Given the description of an element on the screen output the (x, y) to click on. 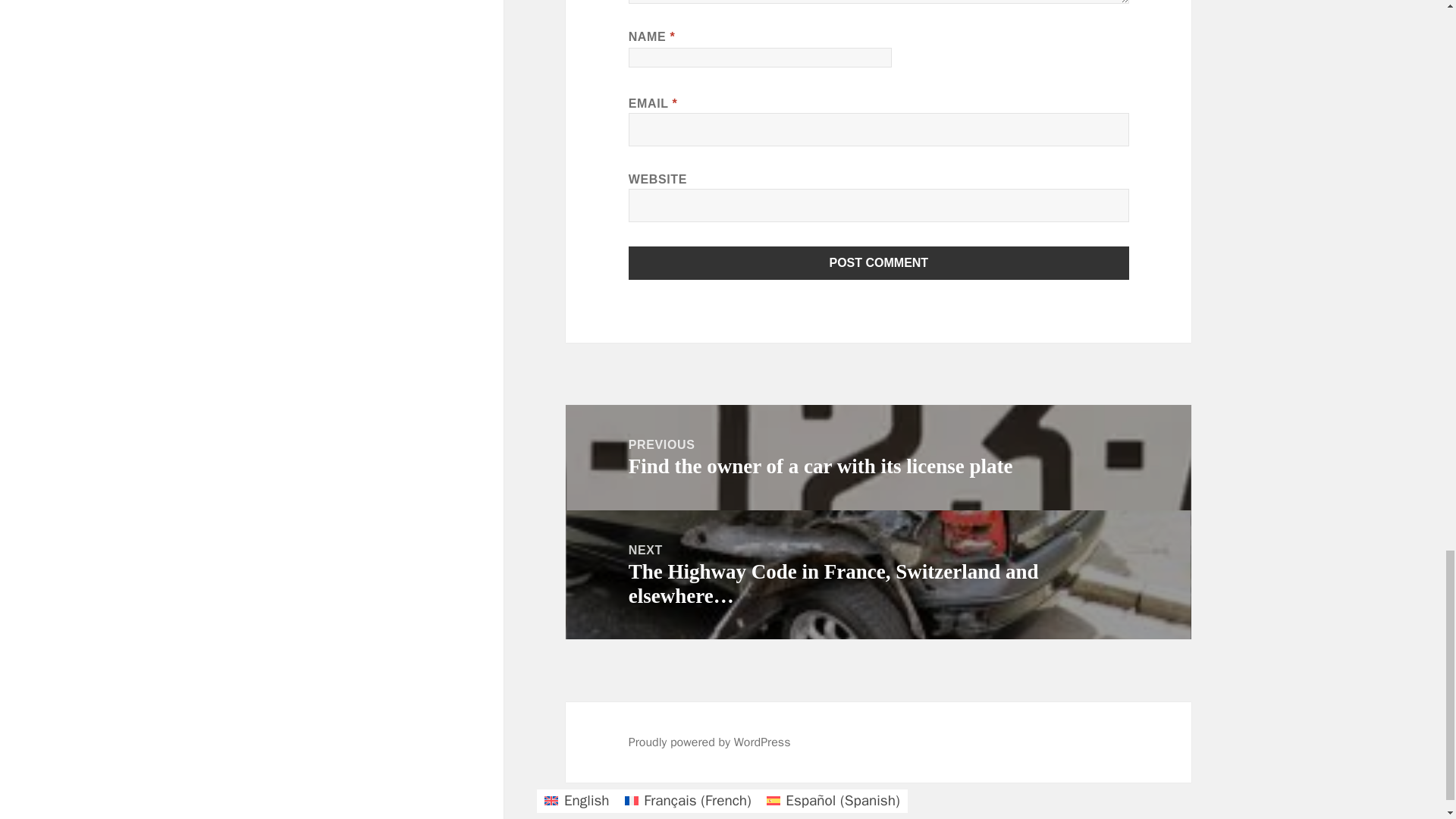
English (576, 801)
Post Comment (878, 263)
Proudly powered by WordPress (709, 742)
Post Comment (878, 263)
